Given the description of an element on the screen output the (x, y) to click on. 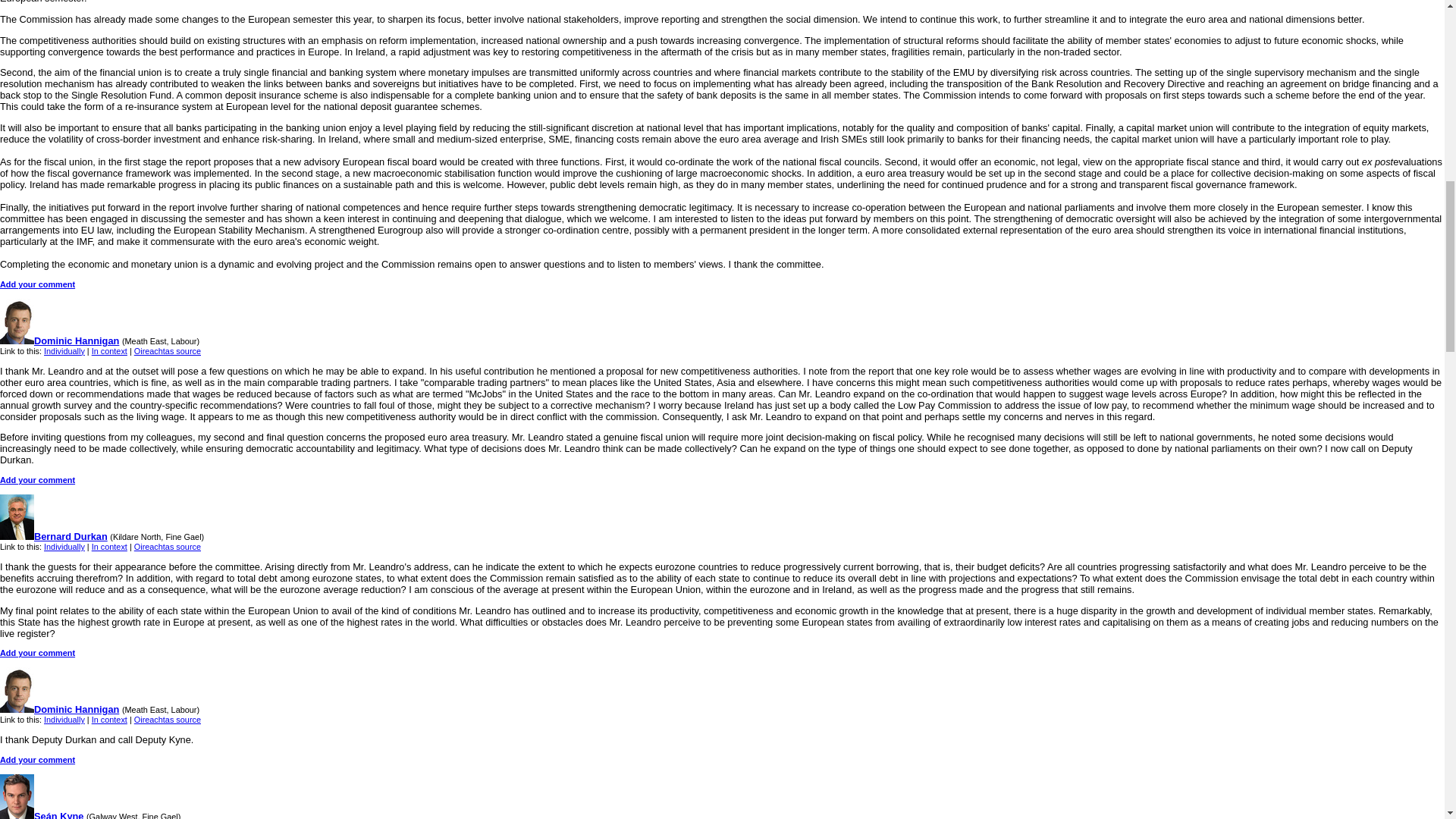
Individually (63, 350)
Dominic Hannigan (59, 708)
Comment on this (37, 479)
Individually (63, 718)
Add your comment (37, 284)
In context (109, 350)
Add your comment (37, 479)
Oireachtas source (166, 350)
In context (109, 546)
Oireachtas source (166, 718)
